Given the description of an element on the screen output the (x, y) to click on. 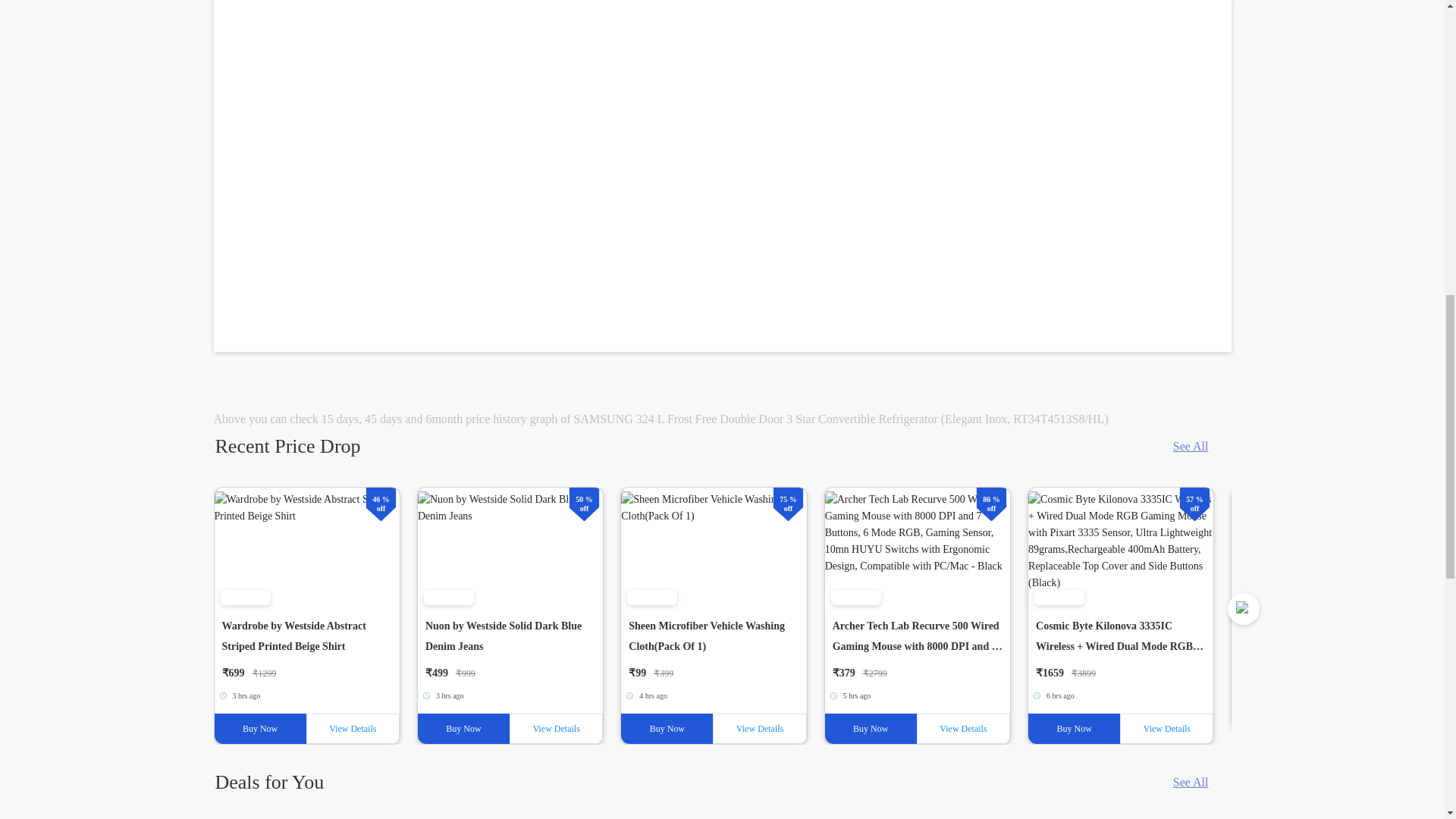
Buy Now (871, 728)
Buy Now (259, 728)
View Details (555, 728)
View Details (1165, 728)
Buy Now (667, 728)
See All (1190, 445)
Wardrobe by Westside Abstract Striped Printed Beige Shirt (306, 548)
Buy Now (1073, 728)
View Details (351, 728)
View Details (963, 728)
Buy Now (463, 728)
Nuon by Westside Solid Dark Blue Denim Jeans (509, 548)
View Details (759, 728)
